Given the description of an element on the screen output the (x, y) to click on. 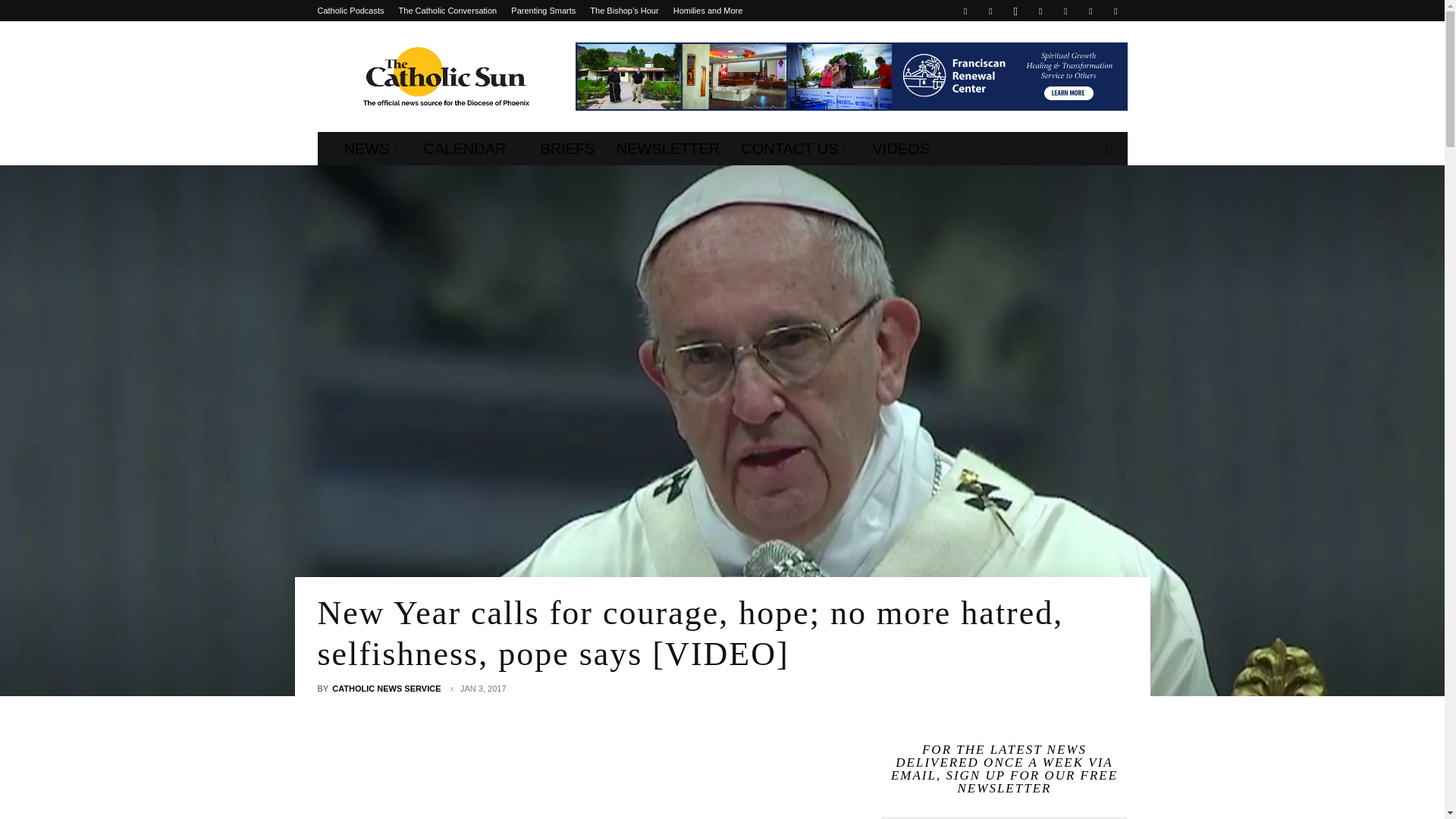
Instagram (1015, 10)
Linkedin (1040, 10)
The Catholic Conversation (447, 10)
Catholic Podcasts (350, 10)
Facebook (964, 10)
Homilies and More (707, 10)
Twitter (1065, 10)
Parenting Smarts (543, 10)
Flickr (989, 10)
NEWS (373, 148)
